Given the description of an element on the screen output the (x, y) to click on. 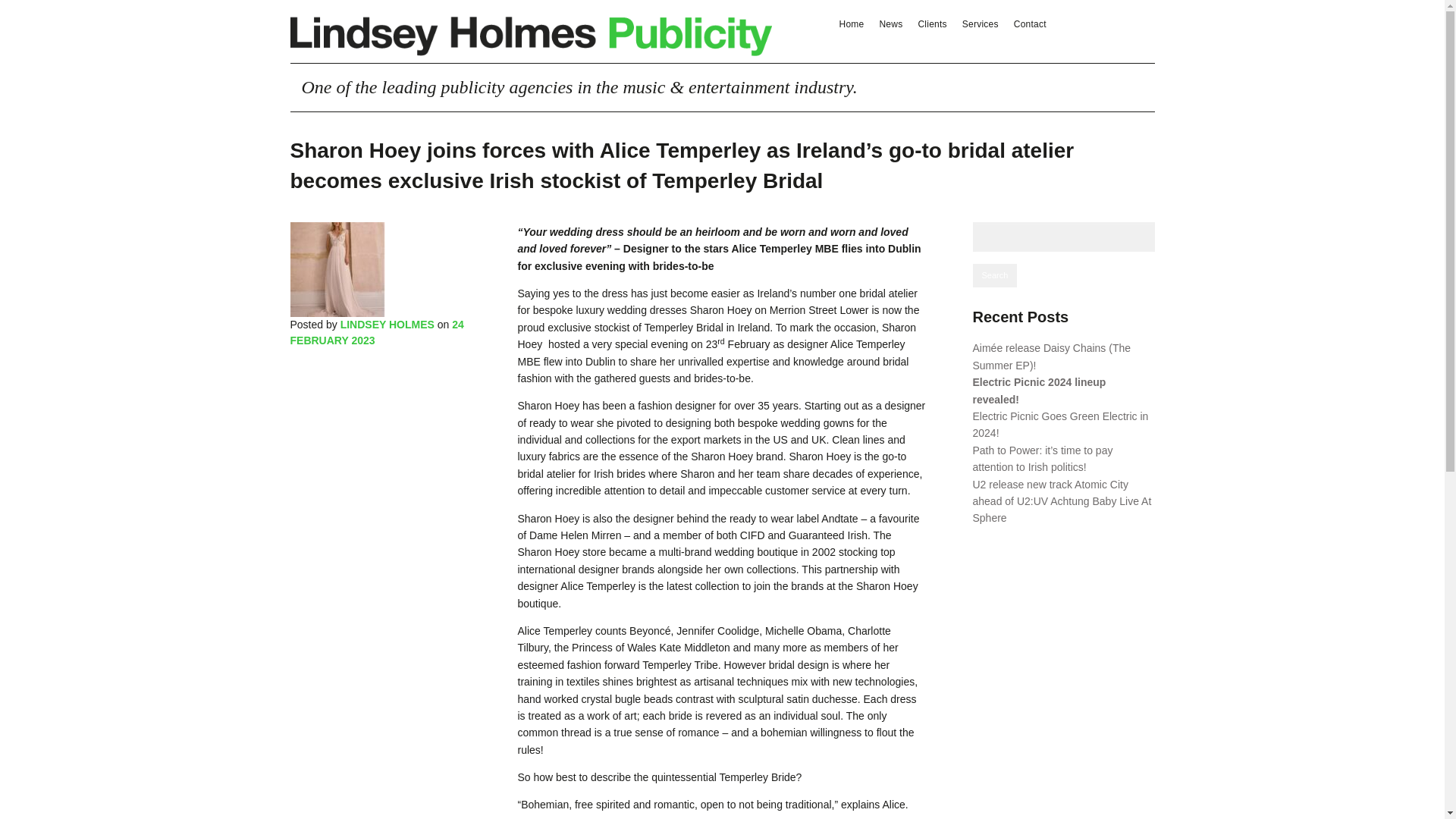
Search (994, 275)
Search (994, 275)
News (890, 24)
Clients (931, 24)
Electric Picnic Goes Green Electric in 2024! (1060, 424)
Contact (1030, 24)
Services (980, 24)
Search (994, 275)
Home (850, 24)
